Given the description of an element on the screen output the (x, y) to click on. 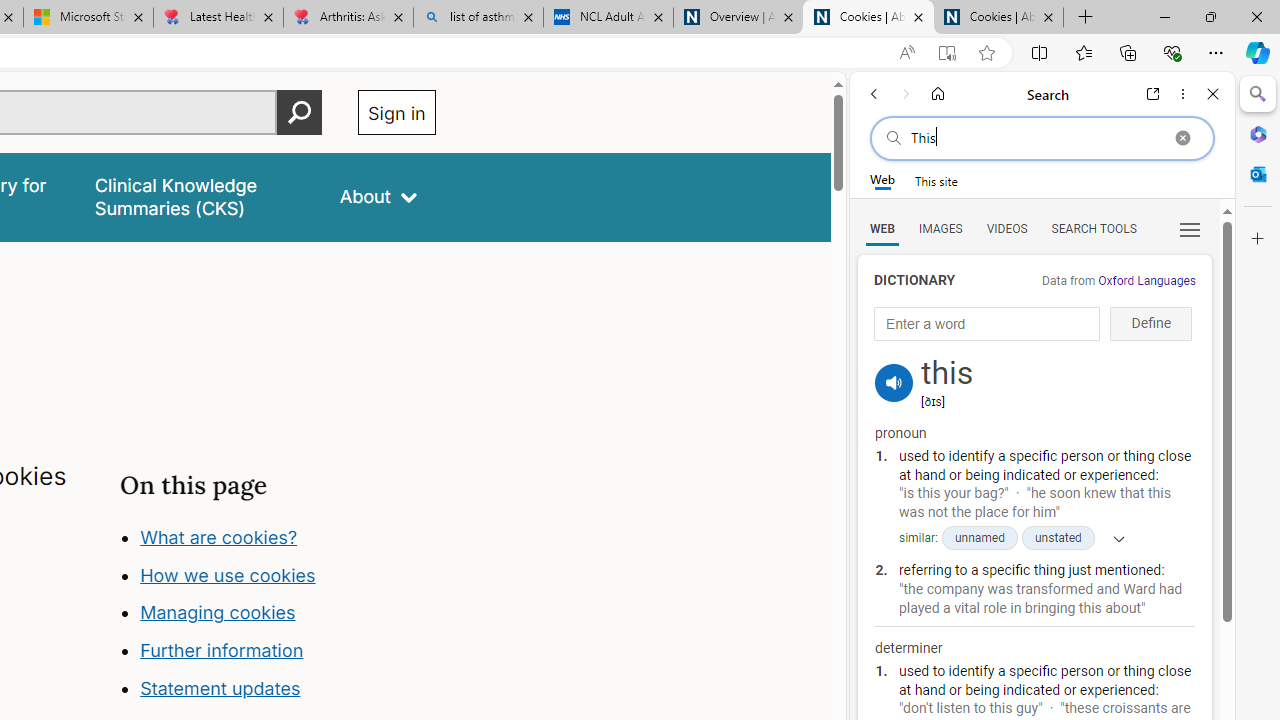
unnamed (978, 538)
Statement updates (219, 688)
unstated (1057, 538)
pronounce (893, 382)
Perform search (299, 112)
